Given the description of an element on the screen output the (x, y) to click on. 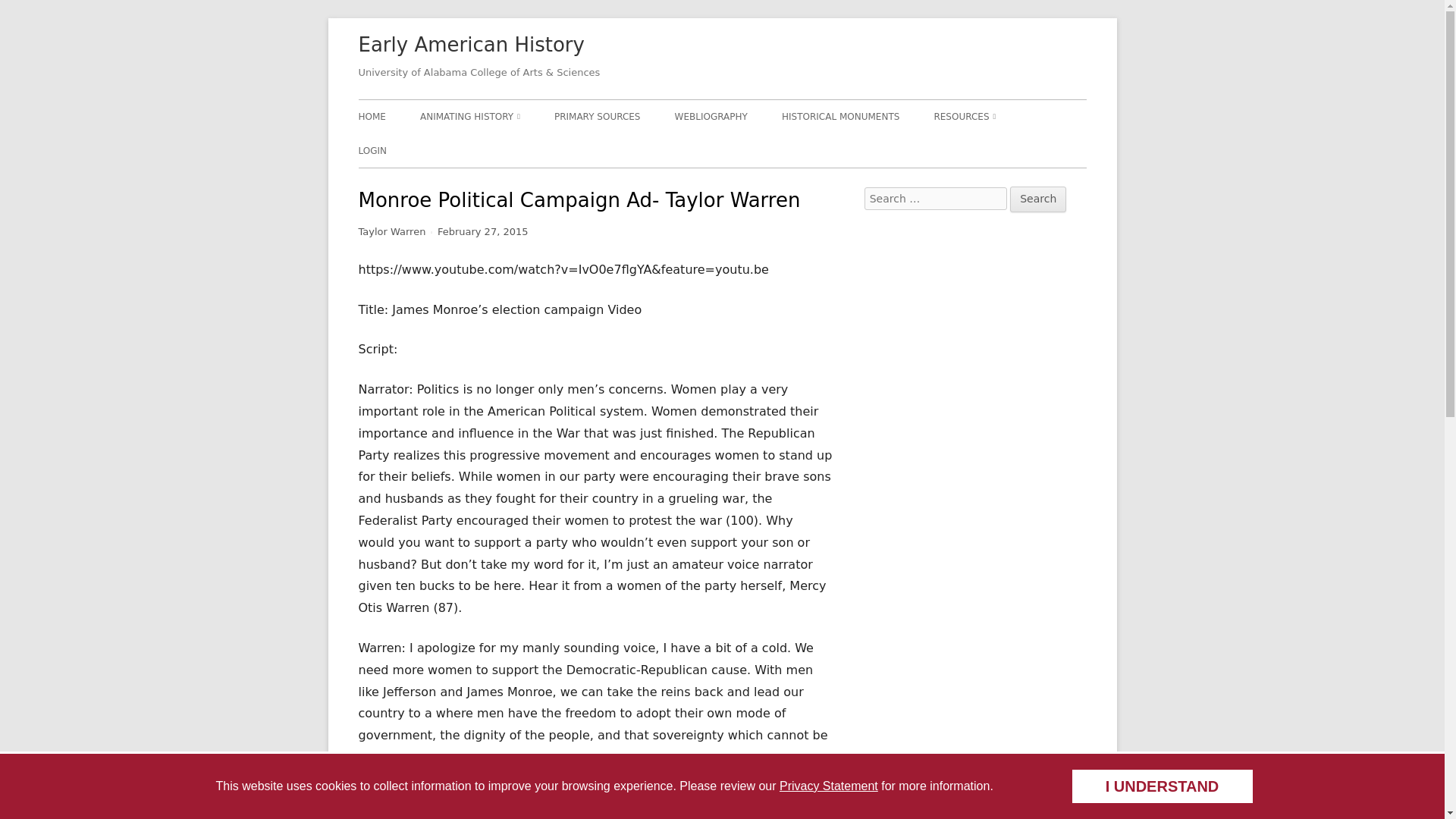
Taylor Warren (391, 231)
HISTORICAL MONUMENTS (840, 116)
RESOURCES (964, 116)
Early American History (470, 45)
ANIMATING HISTORY (469, 116)
WEBLIOGRAPHY (711, 116)
PRIMARY SOURCES (597, 116)
Search (1037, 199)
February 27, 2015 (483, 231)
Search (1037, 199)
Search (1037, 199)
PAST SEMESTERS (507, 149)
MONUMENTS (1019, 149)
I UNDERSTAND (1161, 786)
Privacy Statement (827, 785)
